Given the description of an element on the screen output the (x, y) to click on. 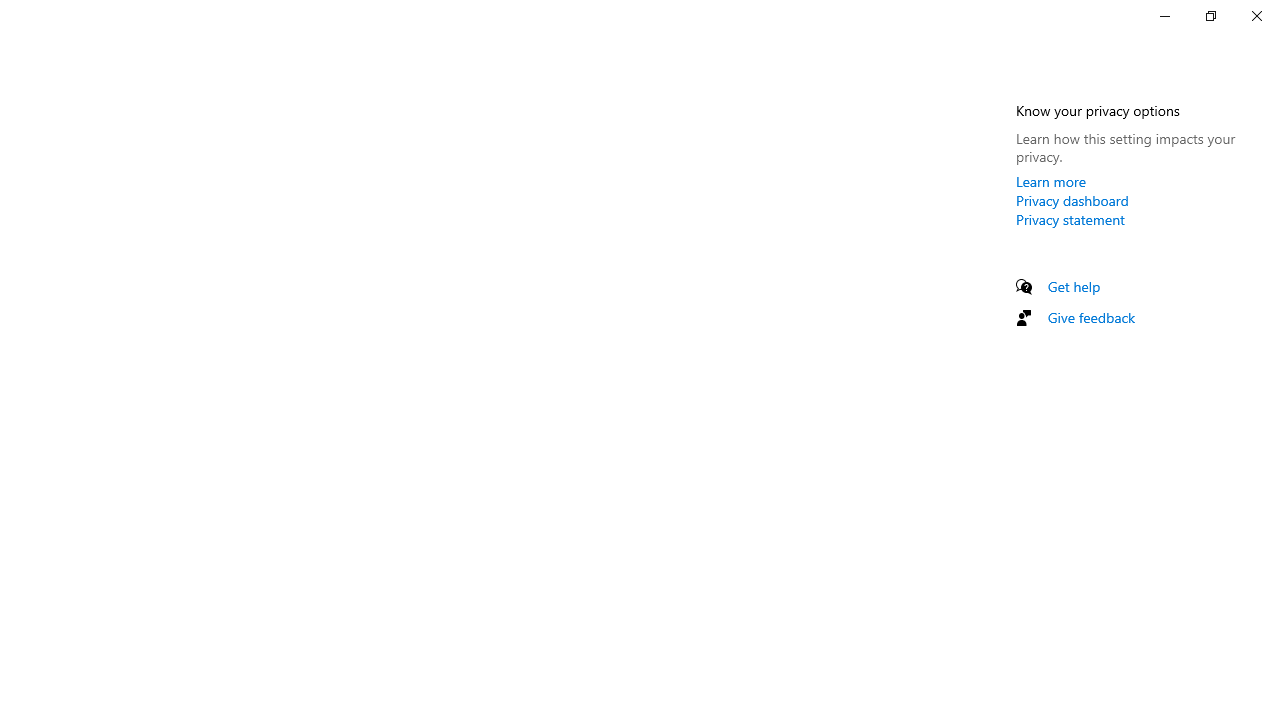
Get help (1074, 286)
Privacy dashboard (1072, 200)
Privacy statement (1070, 219)
Minimize Settings (1164, 15)
Restore Settings (1210, 15)
Give feedback (1091, 317)
Close Settings (1256, 15)
Learn more (1051, 181)
